Given the description of an element on the screen output the (x, y) to click on. 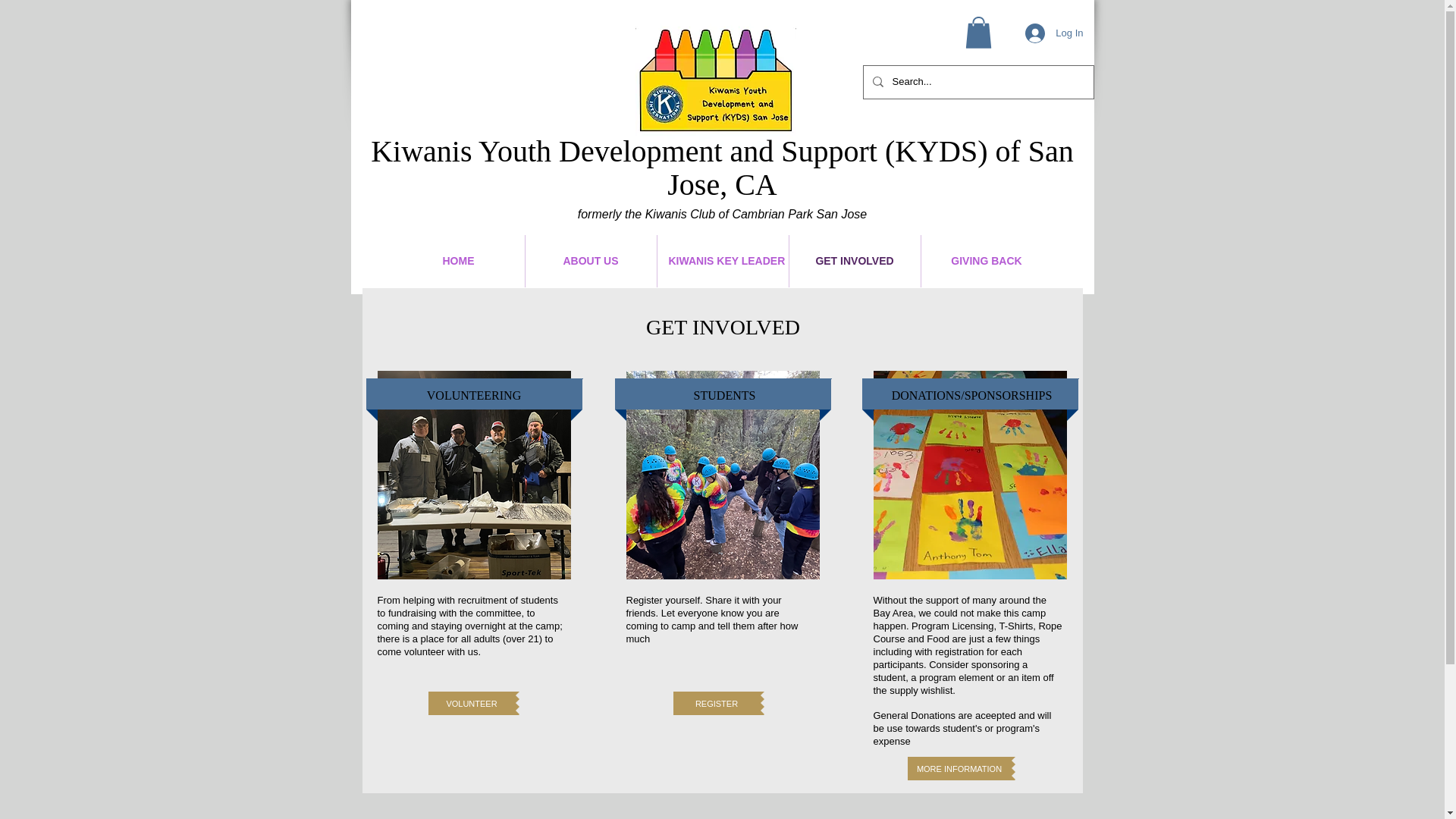
VOLUNTEER (471, 702)
MORE INFORMATION (958, 768)
GET INVOLVED (854, 261)
ABOUT US (590, 261)
REGISTER (716, 702)
formerly the Kiwanis Club of Cambrian Park San Jose (722, 214)
Log In (1053, 32)
KIWANIS KEY LEADER (721, 261)
GIVING BACK (985, 261)
HOME (458, 261)
